Given the description of an element on the screen output the (x, y) to click on. 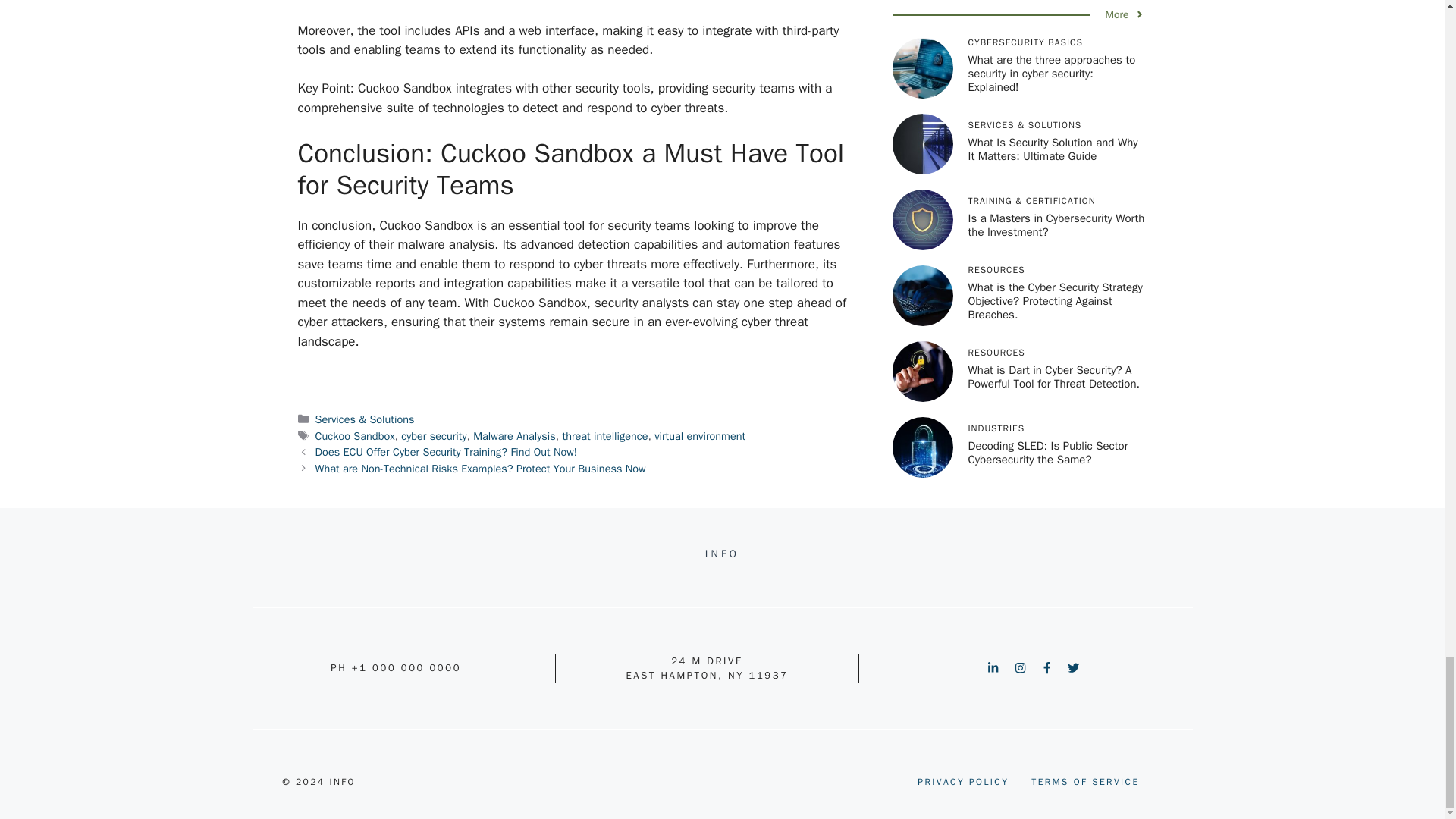
PRIVACY POLICY (963, 781)
virtual environment (699, 436)
Does ECU Offer Cyber Security Training? Find Out Now! (445, 451)
Malware Analysis (514, 436)
TERMS OF SERVICE (1084, 781)
cyber security (433, 436)
threat intelligence (604, 436)
Cuckoo Sandbox (354, 436)
